Given the description of an element on the screen output the (x, y) to click on. 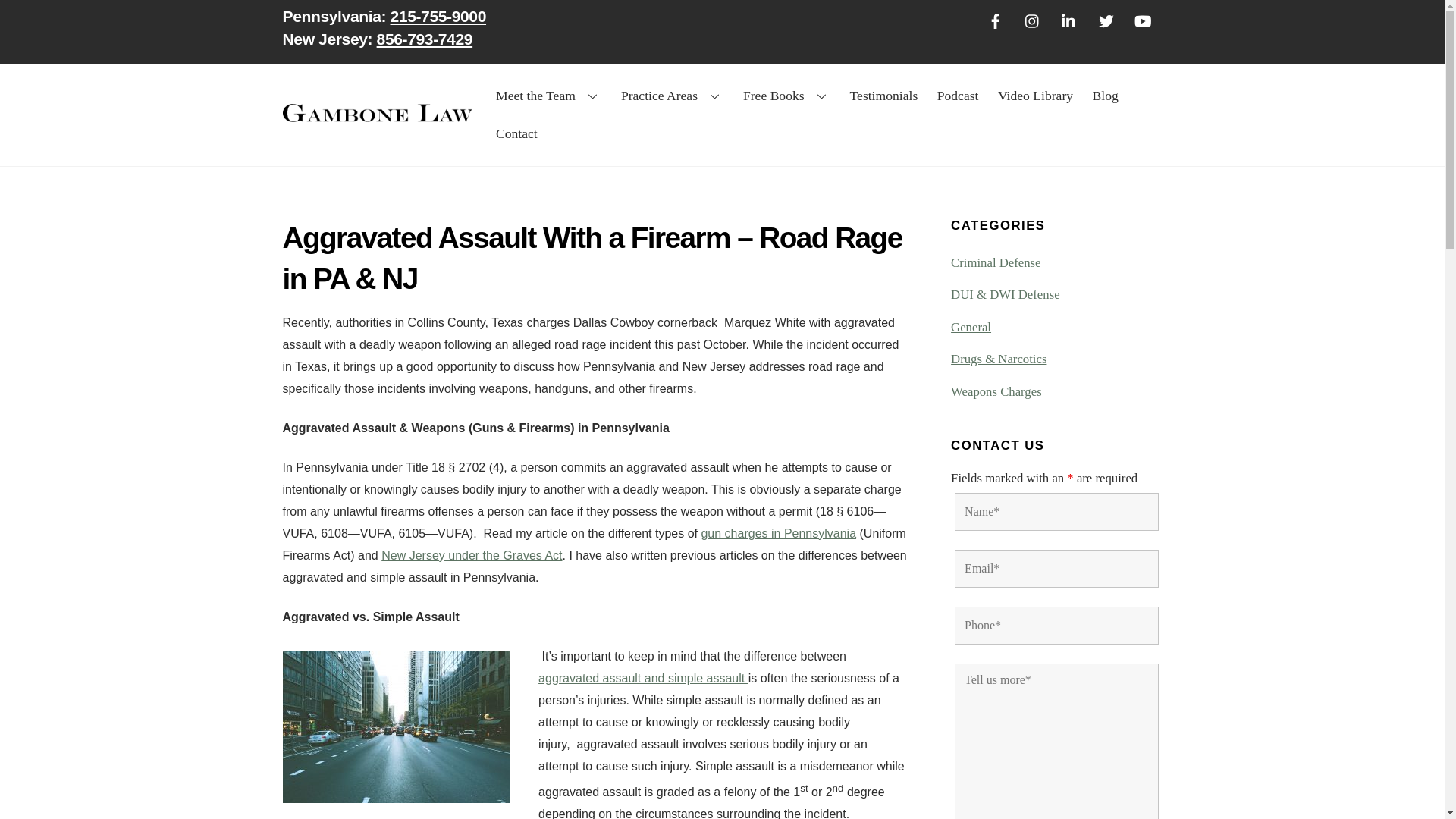
856-793-7429 (425, 38)
gun charges in Pennsylvania (778, 533)
Video Library (1035, 95)
Free Books (786, 95)
Meet the Team (548, 95)
Contact (515, 133)
Practice Areas (672, 95)
215-755-9000 (721, 31)
Podcast (438, 16)
Testimonials (957, 95)
Blog (883, 95)
aggravated assault and simple assault (1104, 95)
New Jersey under the Graves Act (643, 677)
